Given the description of an element on the screen output the (x, y) to click on. 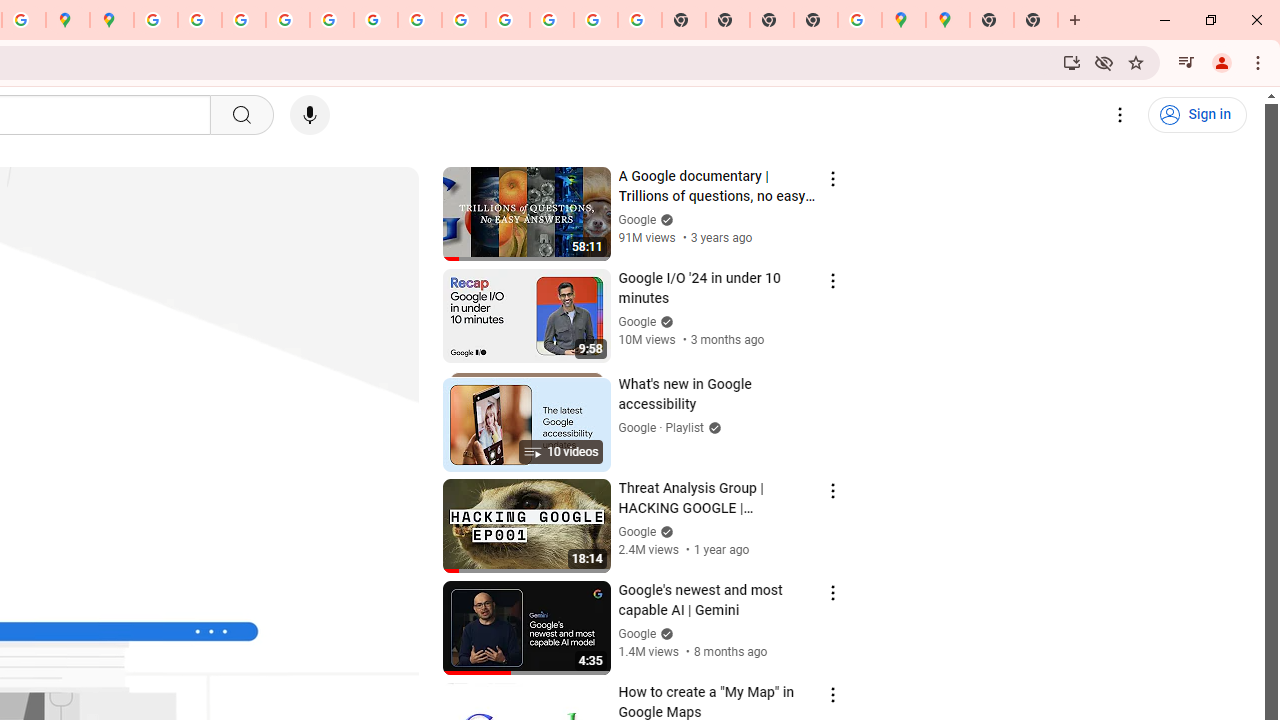
Install YouTube (1071, 62)
Sign in - Google Accounts (155, 20)
